Given the description of an element on the screen output the (x, y) to click on. 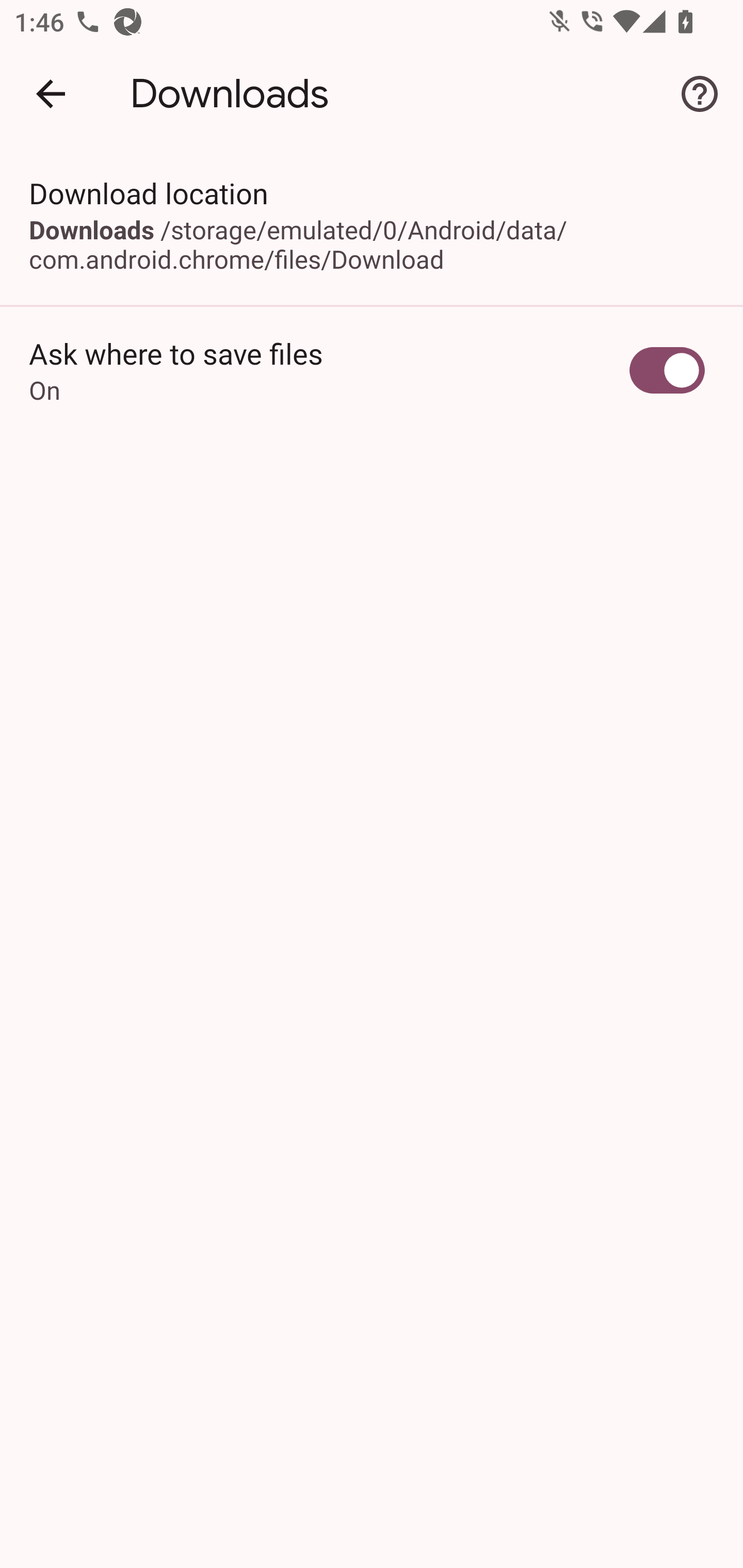
Navigate up (50, 93)
Help & feedback (699, 93)
Ask where to save files On (371, 369)
